Given the description of an element on the screen output the (x, y) to click on. 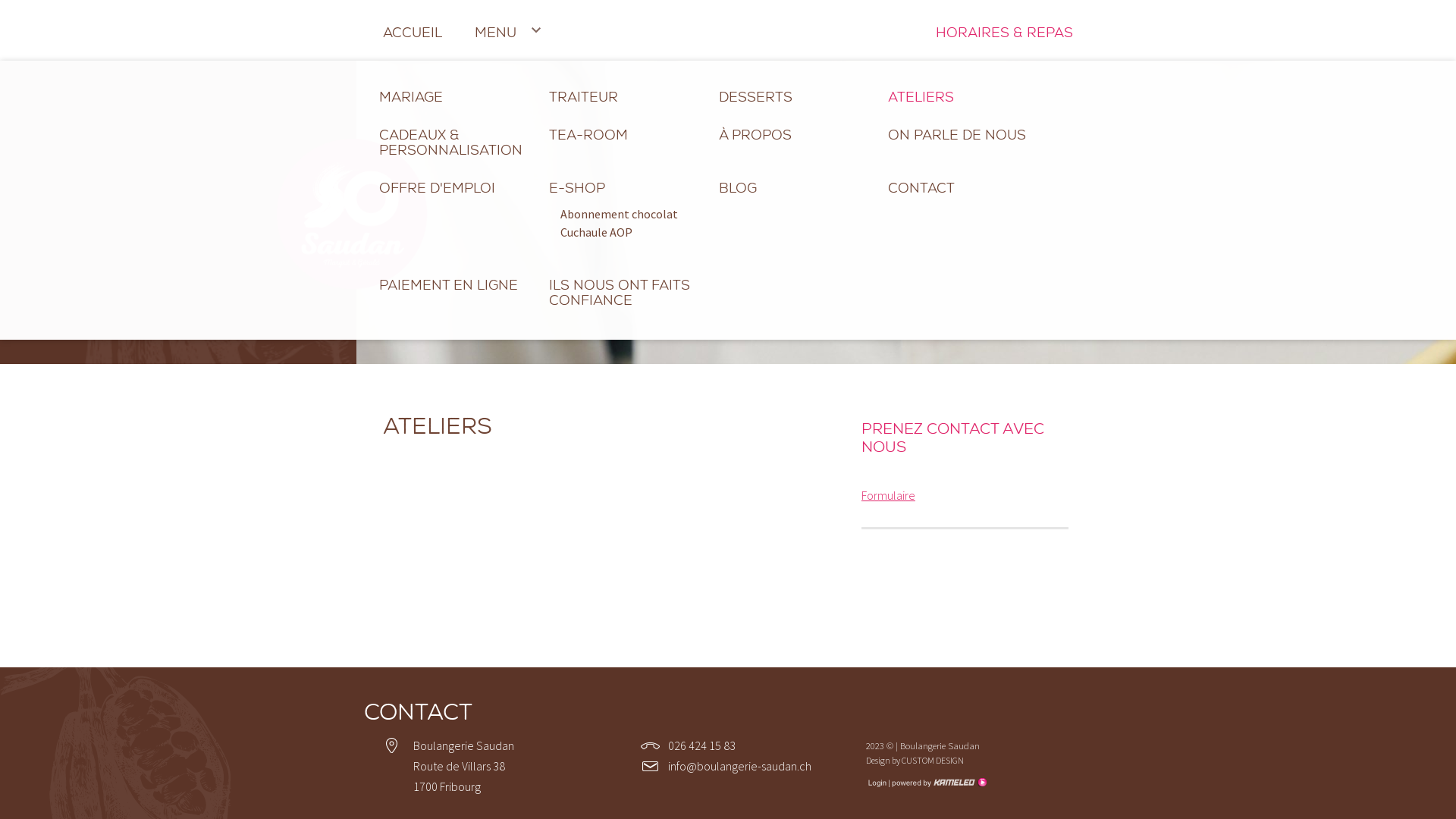
TRAITEUR Element type: text (625, 94)
Cuchaule AOP Element type: text (625, 231)
TEA-ROOM Element type: text (625, 132)
info@boulangerie-saudan.ch Element type: text (739, 765)
026 424 15 83 Element type: text (701, 745)
CONTACT Element type: text (964, 185)
boulangerie-saudan.ch Element type: text (352, 214)
OFFRE D'EMPLOI Element type: text (455, 185)
MENU Element type: text (500, 29)
PAIEMENT EN LIGNE Element type: text (455, 282)
DESSERTS Element type: text (794, 94)
ACCUEIL Element type: text (412, 29)
ON PARLE DE NOUS Element type: text (964, 132)
E-SHOP Element type: text (625, 185)
CADEAUX & PERSONNALISATION Element type: text (455, 139)
ILS NOUS ONT FAITS CONFIANCE Element type: text (625, 289)
BLOG Element type: text (794, 185)
Abonnement chocolat Element type: text (625, 213)
HORAIRES & REPAS Element type: text (1004, 29)
ATELIERS Element type: text (964, 94)
MARIAGE Element type: text (455, 94)
Formulaire Element type: text (888, 494)
